Given the description of an element on the screen output the (x, y) to click on. 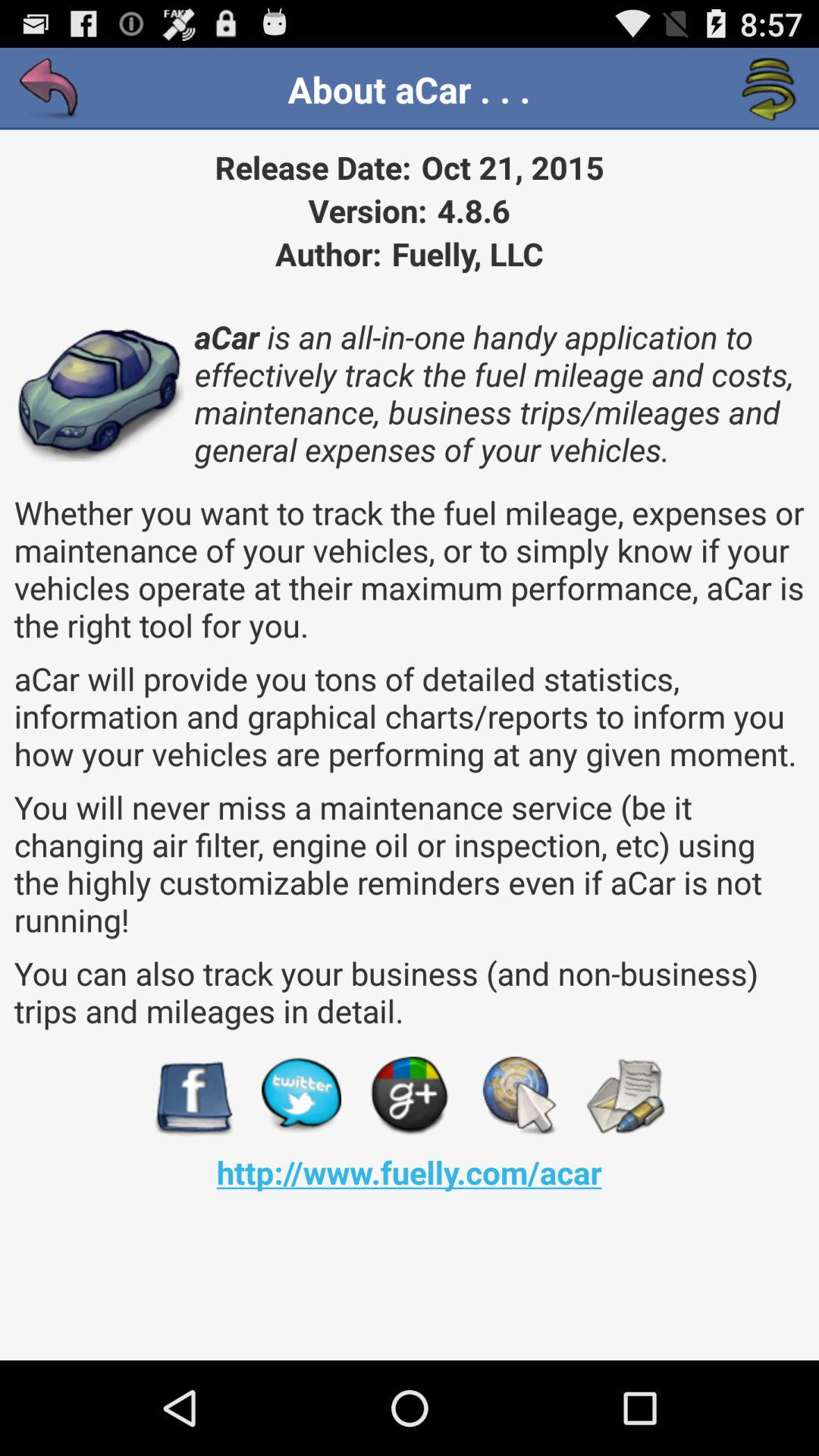
go to google plus (409, 1096)
